Given the description of an element on the screen output the (x, y) to click on. 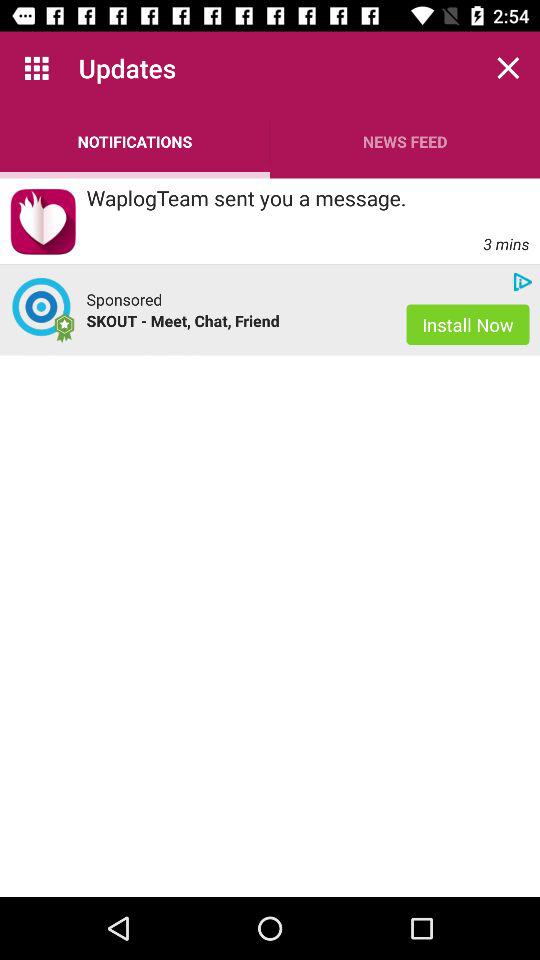
tap sponsored (124, 299)
